Given the description of an element on the screen output the (x, y) to click on. 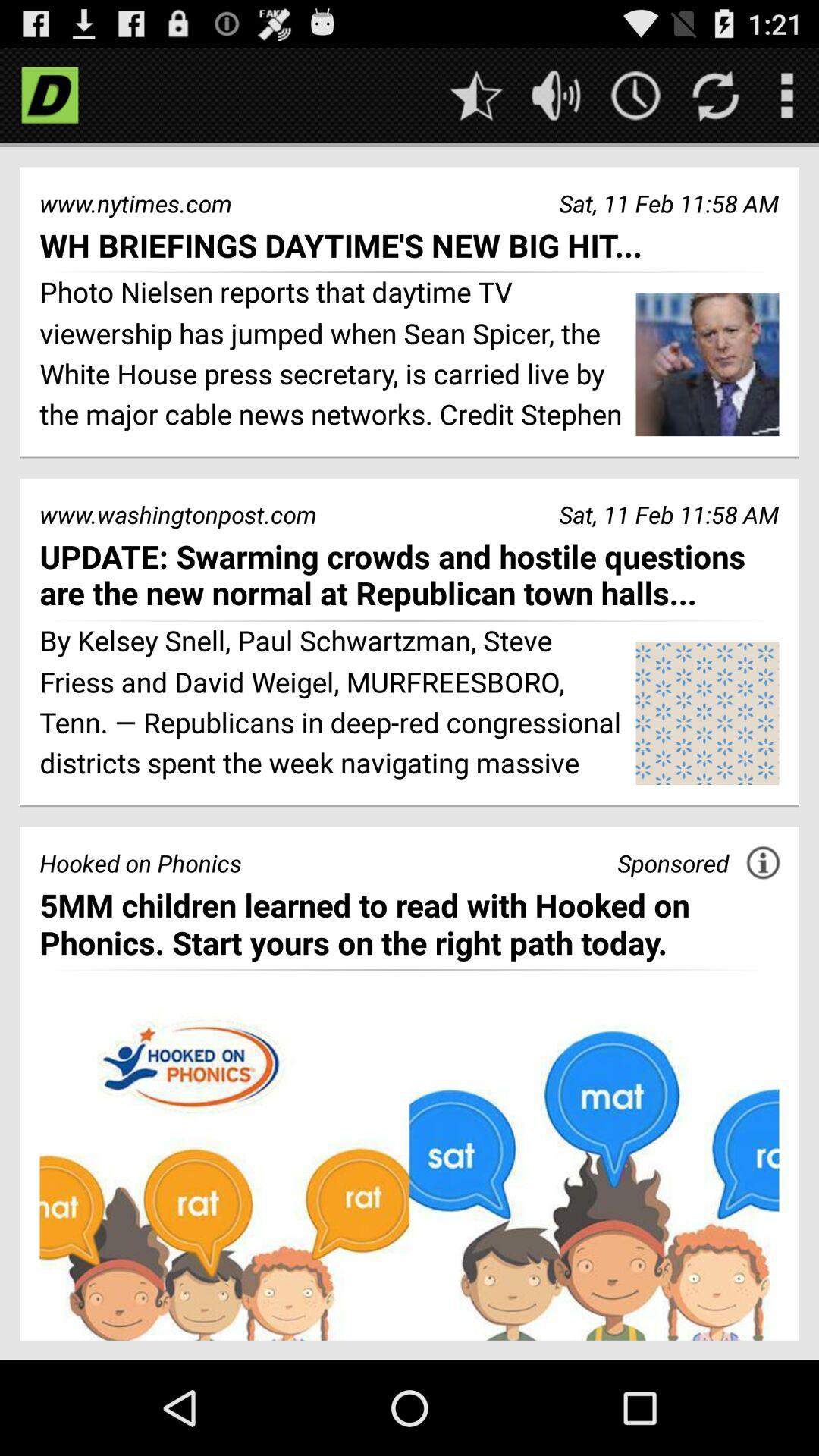
swipe until update swarming crowds app (409, 574)
